Given the description of an element on the screen output the (x, y) to click on. 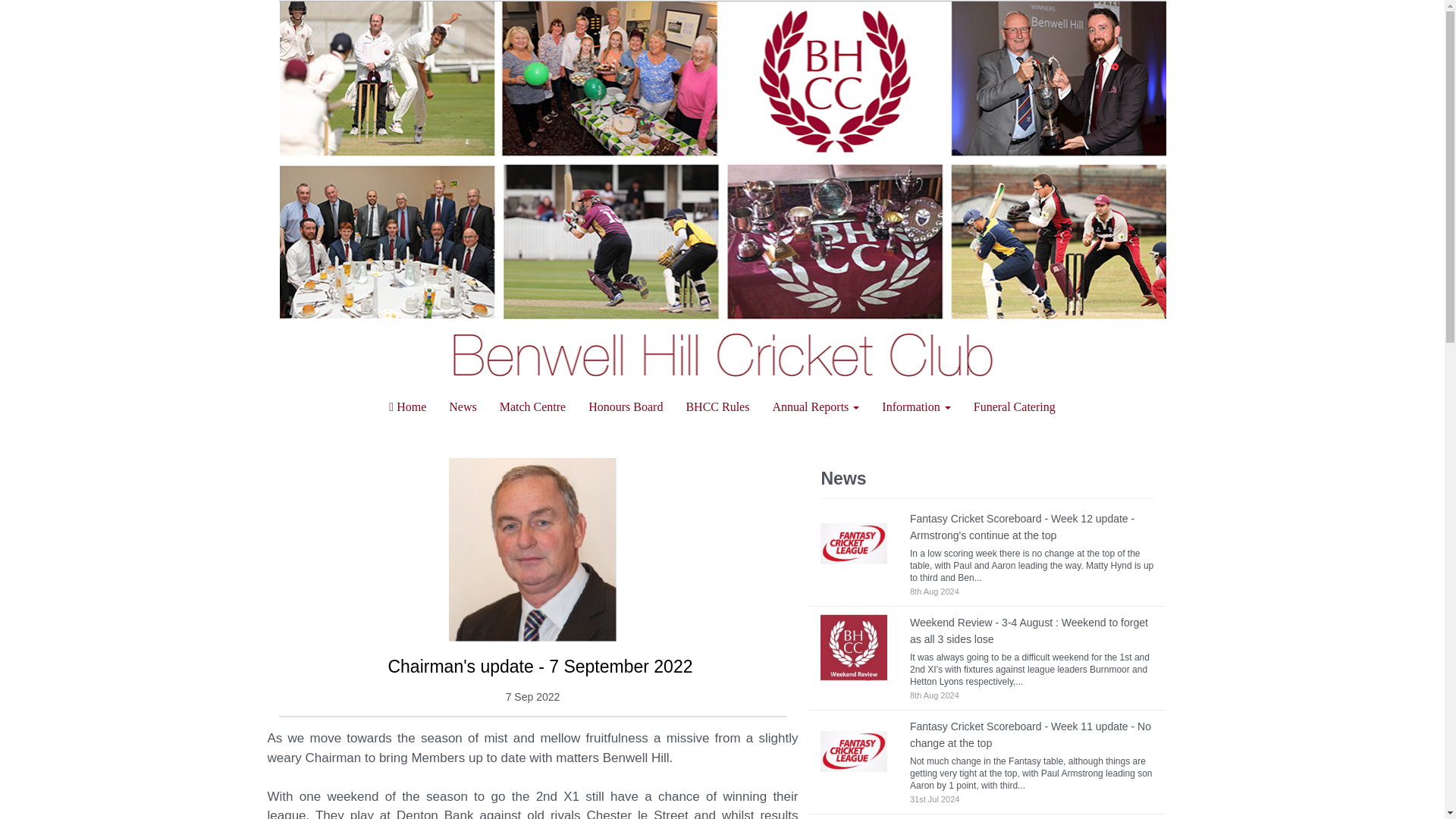
Honours Board (625, 406)
Funeral Catering (1014, 406)
BHCC Rules (717, 406)
Home (407, 406)
News (462, 406)
Match Centre (532, 406)
Annual Reports (815, 406)
Information (915, 406)
